Given the description of an element on the screen output the (x, y) to click on. 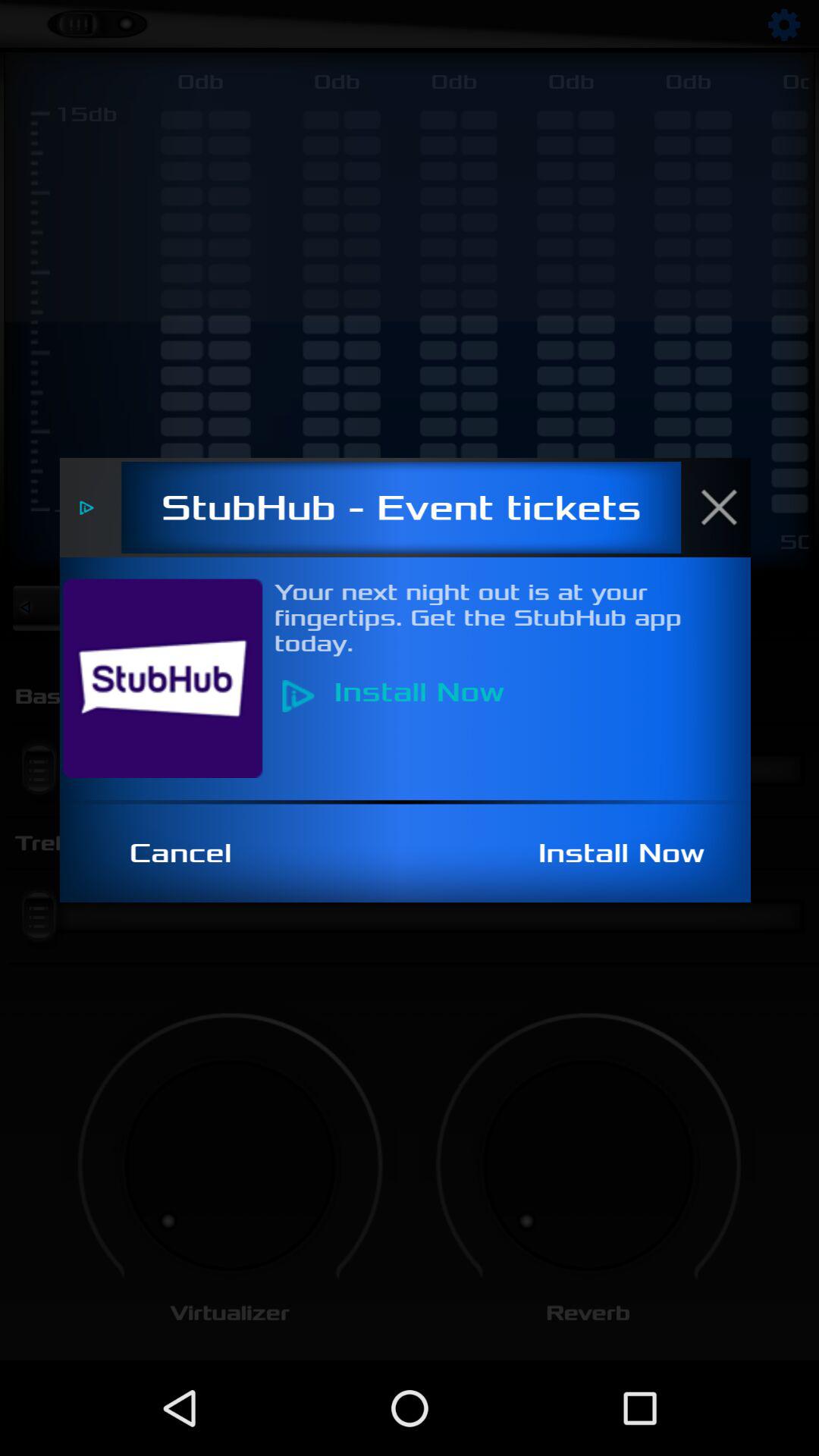
open a webpage (170, 678)
